Given the description of an element on the screen output the (x, y) to click on. 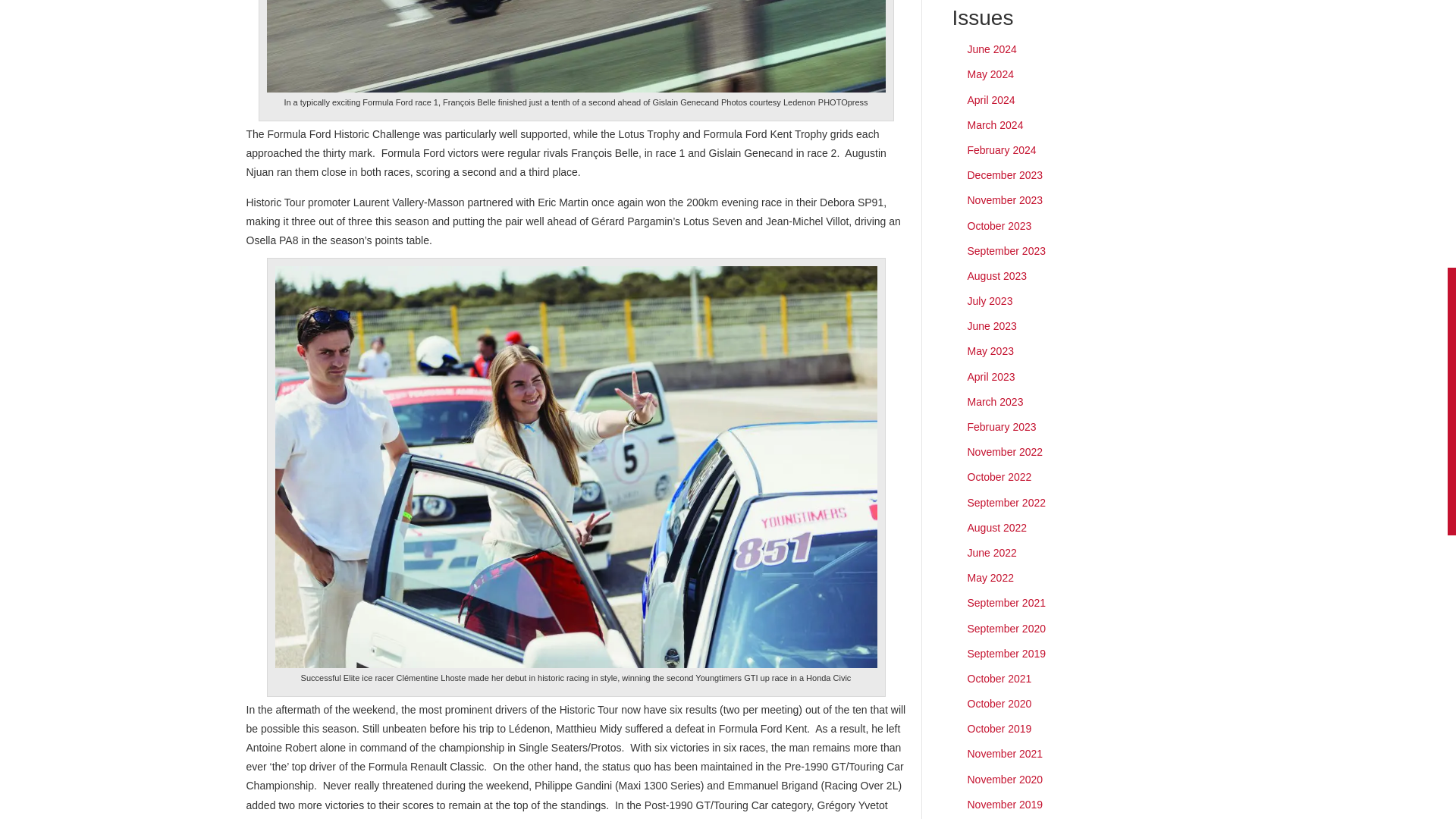
March 2024 (995, 124)
November 2023 (1005, 200)
May 2024 (990, 73)
April 2024 (991, 100)
February 2024 (1002, 150)
December 2023 (1005, 174)
June 2024 (992, 49)
